Given the description of an element on the screen output the (x, y) to click on. 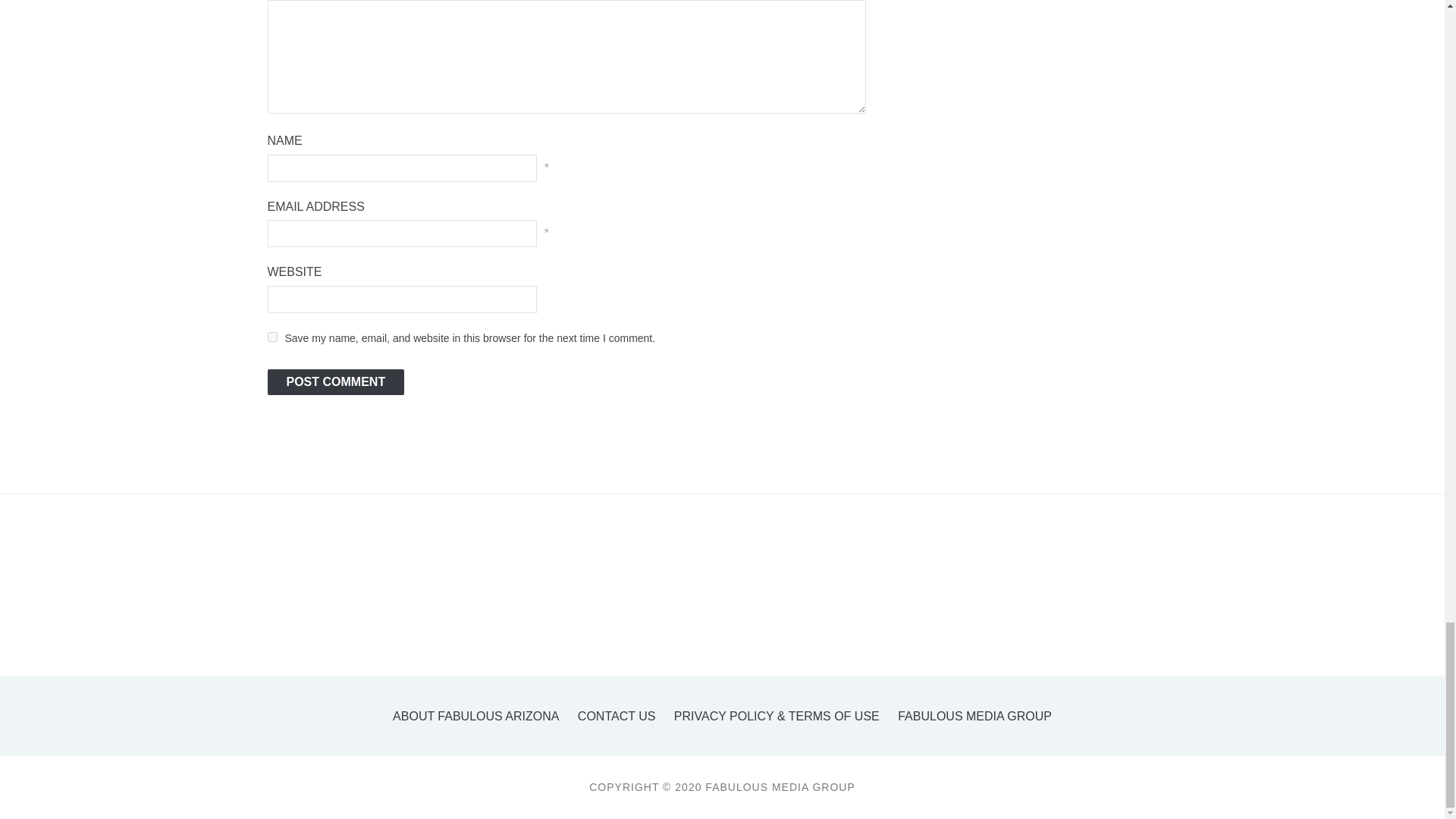
Post Comment (335, 381)
yes (271, 337)
